Given the description of an element on the screen output the (x, y) to click on. 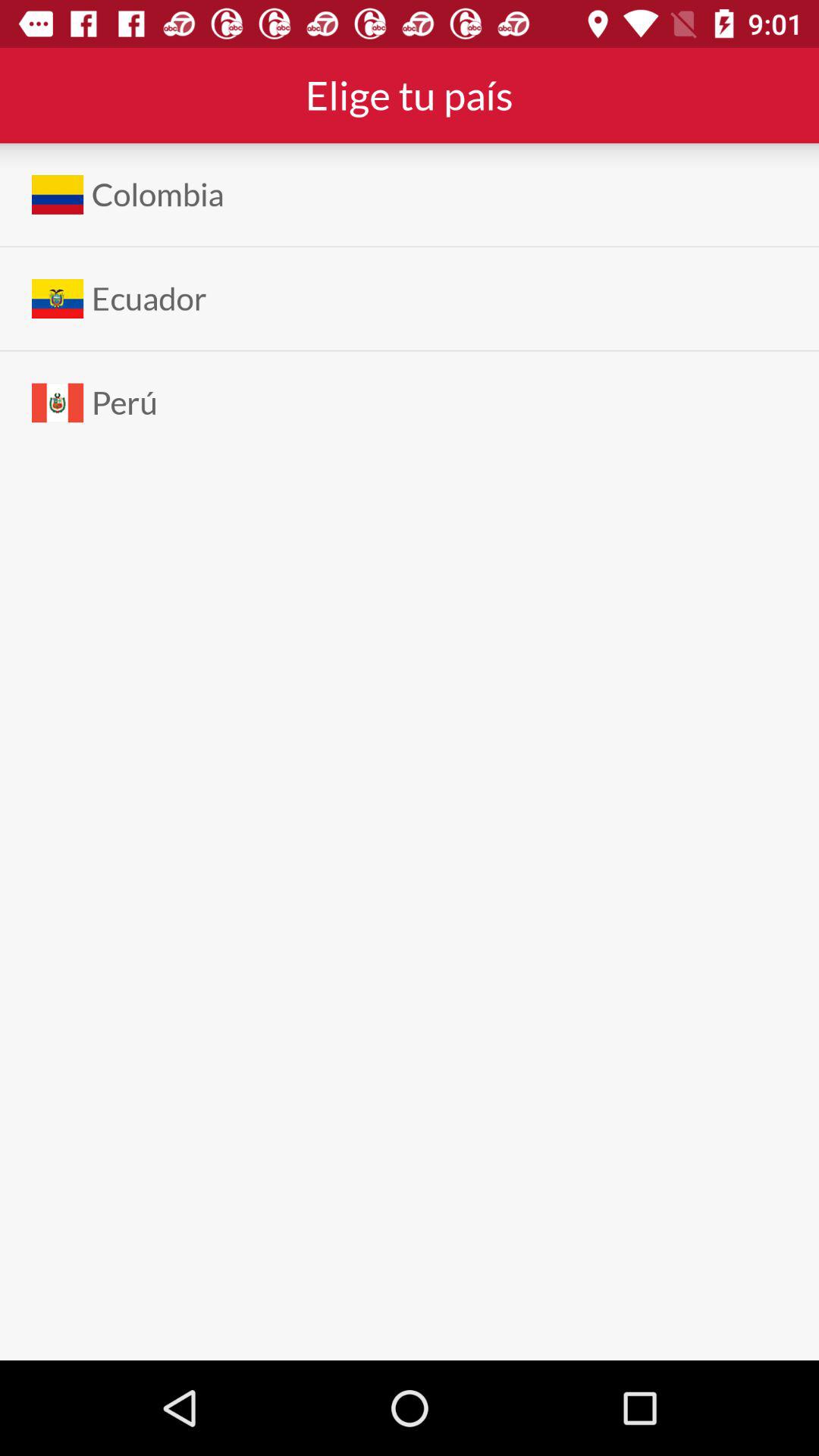
swipe to colombia (157, 194)
